Given the description of an element on the screen output the (x, y) to click on. 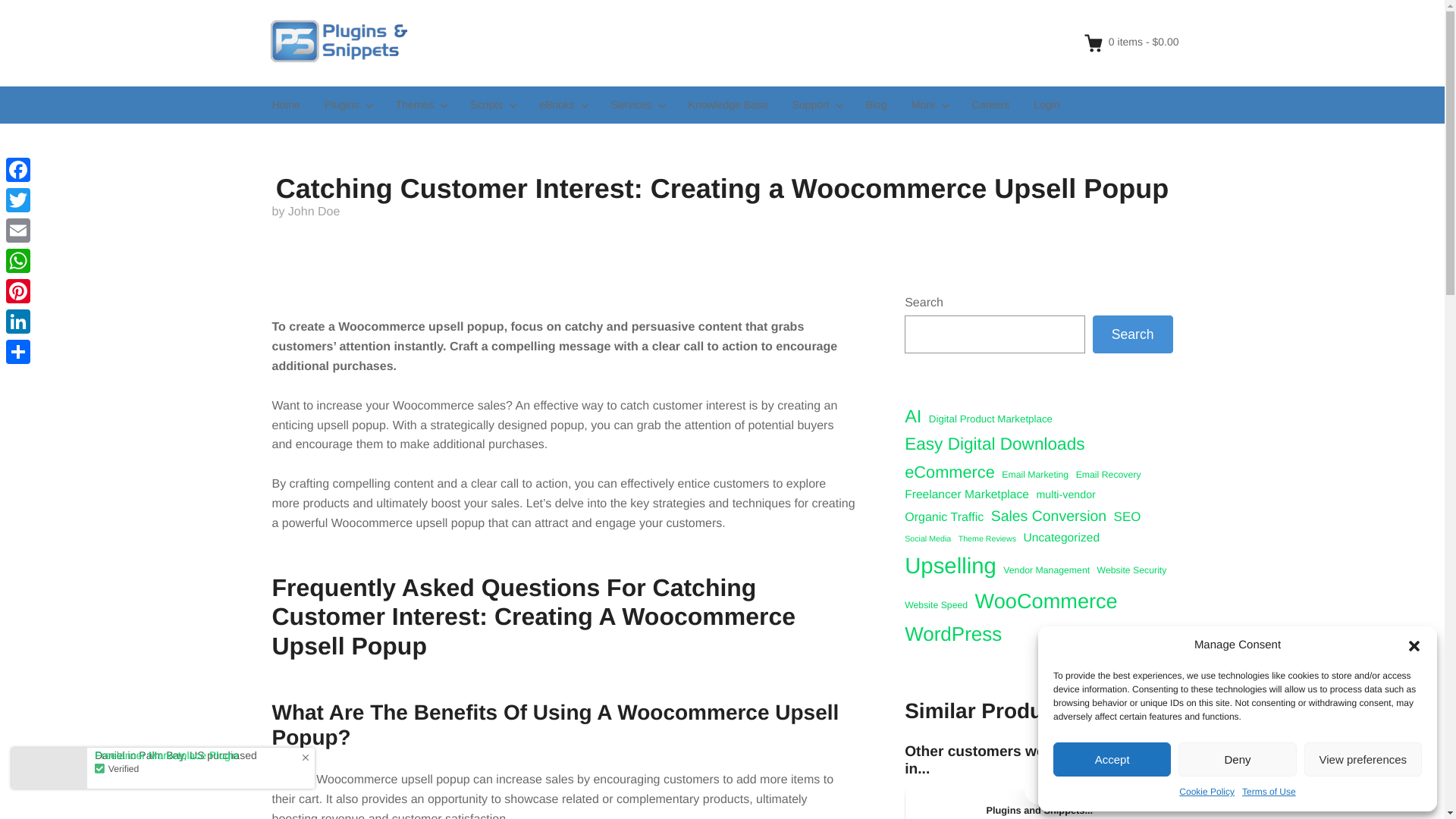
Deny (1236, 759)
View preferences (1363, 759)
Accept (1111, 759)
Terms of Use (1268, 791)
Cookie Policy (1206, 791)
